Given the description of an element on the screen output the (x, y) to click on. 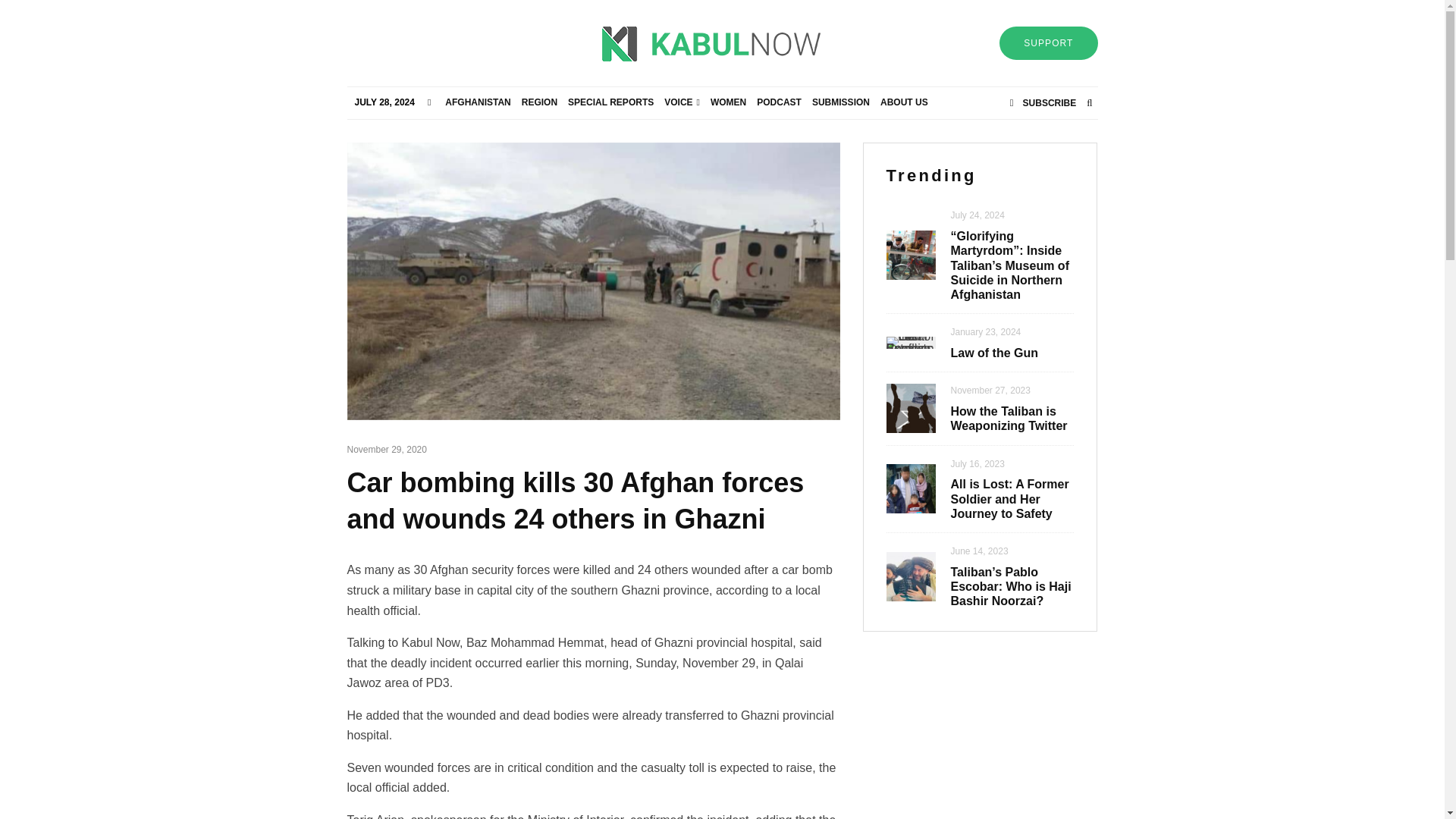
AFGHANISTAN (477, 102)
SPECIAL REPORTS (610, 102)
SUPPORT (1047, 42)
REGION (539, 102)
